Given the description of an element on the screen output the (x, y) to click on. 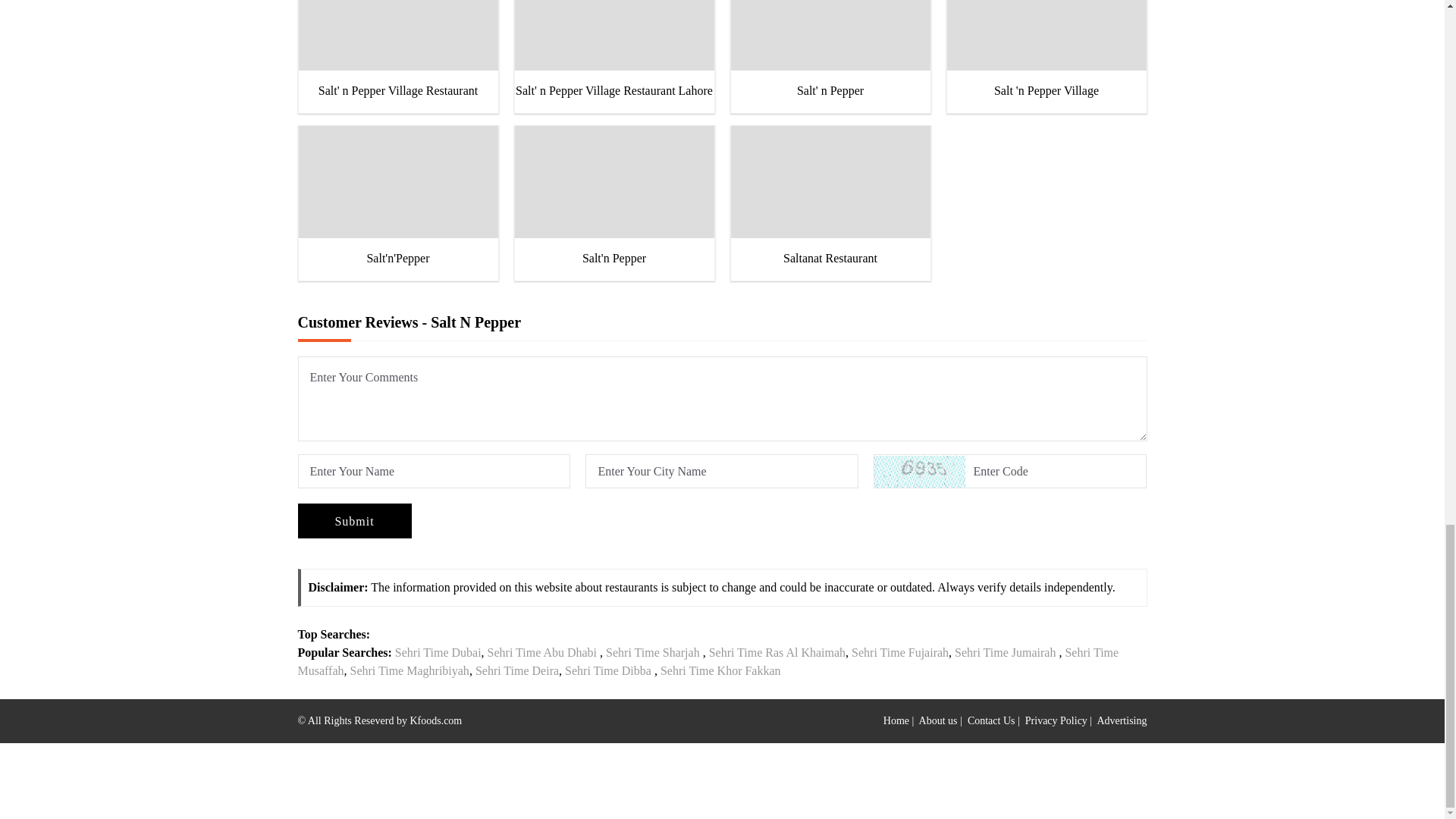
Salt'n Pepper (613, 196)
Sehri Time Deira (517, 670)
Sehri Time Abu Dhabi  (541, 652)
Salt' n Pepper Village Restaurant Lahore (613, 49)
Submit (353, 520)
Sehri Time Maghribiyah (409, 670)
 Sehri Time Dubai (436, 652)
Salt'n'Pepper (397, 196)
Salt' n Pepper (830, 49)
Saltanat Restaurant (830, 196)
Sehri Time Khor Fakkan (722, 670)
Sehri Time Fujairah (900, 652)
Salt 'n Pepper Village (1045, 49)
Sehri Time Jumairah (1005, 652)
Sehri Time Sharjah (652, 652)
